Given the description of an element on the screen output the (x, y) to click on. 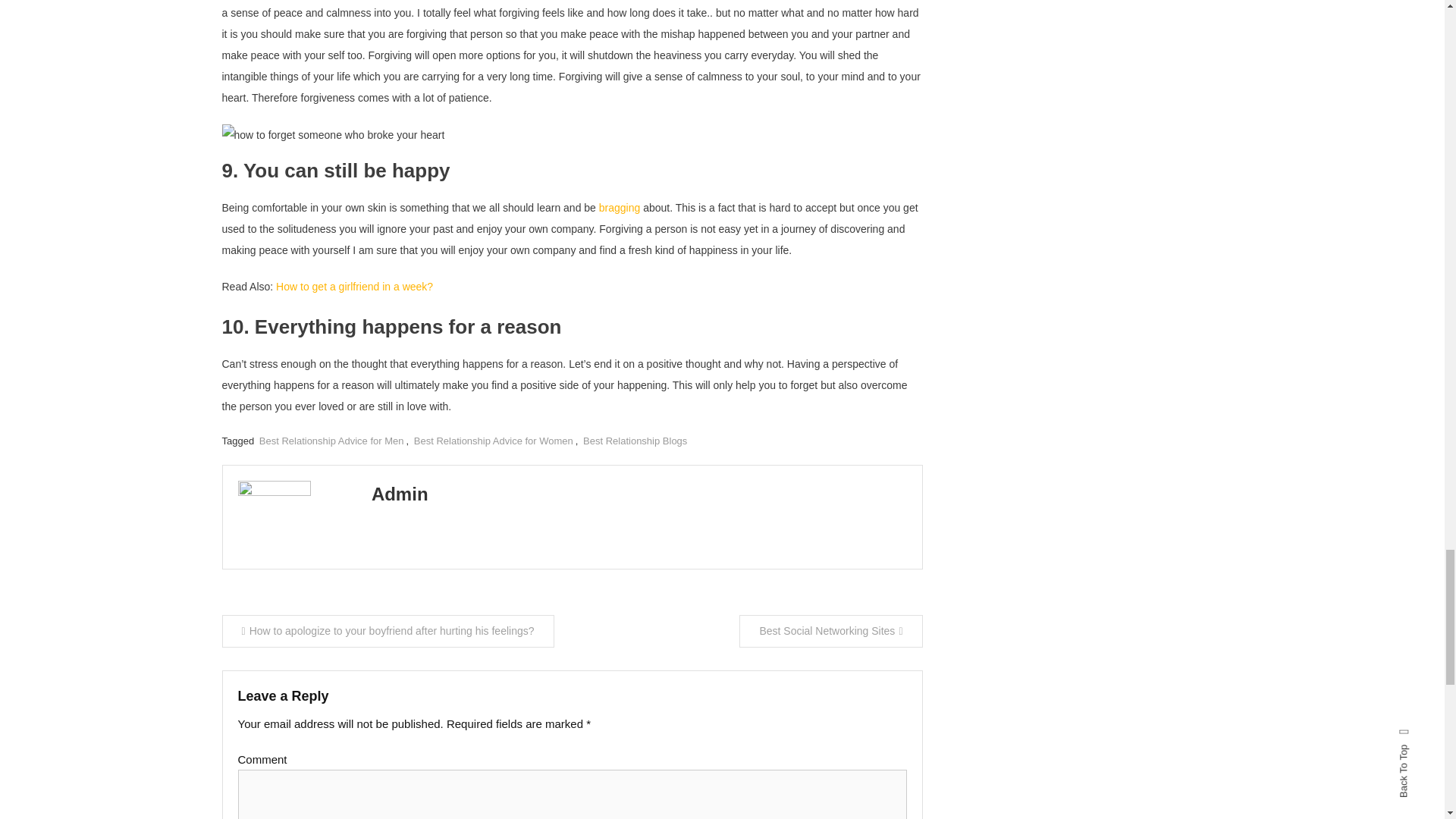
How to get a girlfriend in a week? (354, 286)
Admin (399, 494)
Best Relationship Blogs (635, 440)
Best Relationship Advice for Women (493, 440)
bragging (619, 207)
Best Social Networking Sites (830, 631)
Posts by admin (399, 494)
Best Relationship Advice for Men (331, 440)
